Given the description of an element on the screen output the (x, y) to click on. 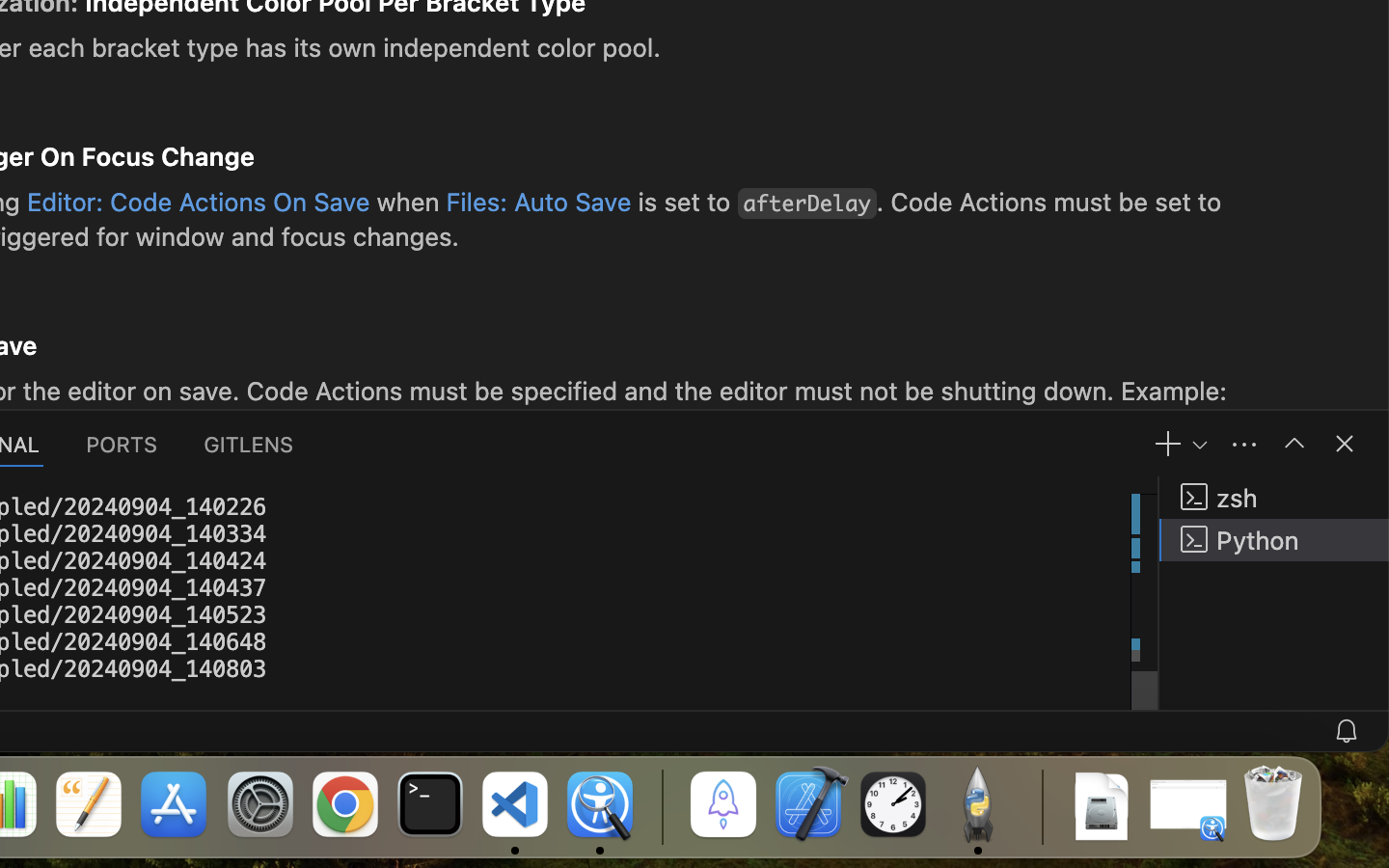
 Element type: AXButton (1344, 443)
0 PORTS Element type: AXRadioButton (122, 443)
0.4285714328289032 Element type: AXDockItem (660, 805)
Python  Element type: AXGroup (1274, 539)
afterDelay Element type: AXStaticText (806, 203)
